Given the description of an element on the screen output the (x, y) to click on. 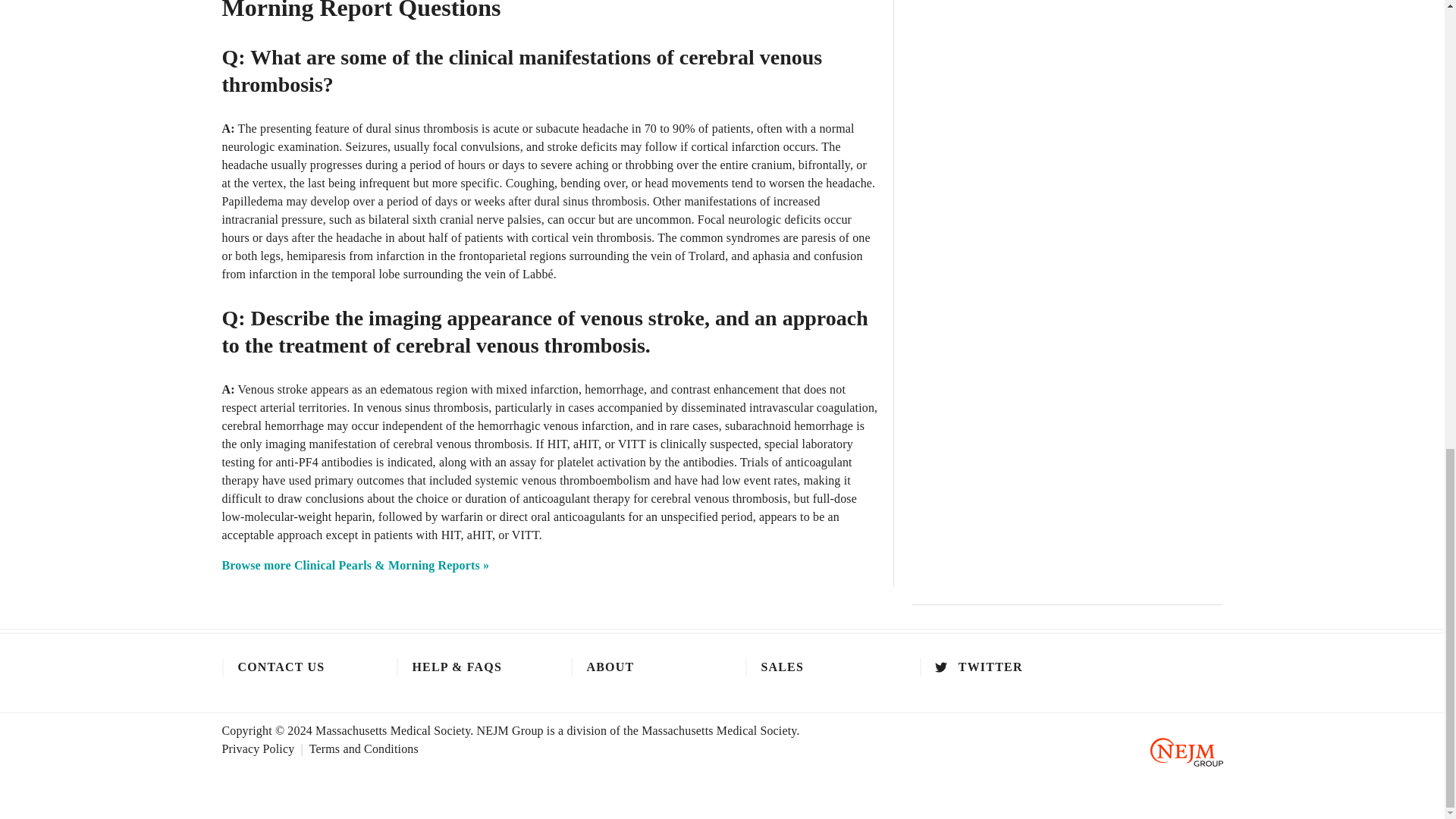
Sales (816, 667)
ABOUT (642, 667)
Terms and Conditions (363, 748)
TWITTER (991, 667)
Terms and Conditions (363, 748)
Privacy Policy (264, 748)
SALES (816, 667)
Privacy Policy (264, 748)
Contact Us (293, 667)
CONTACT US (293, 667)
About (642, 667)
